Given the description of an element on the screen output the (x, y) to click on. 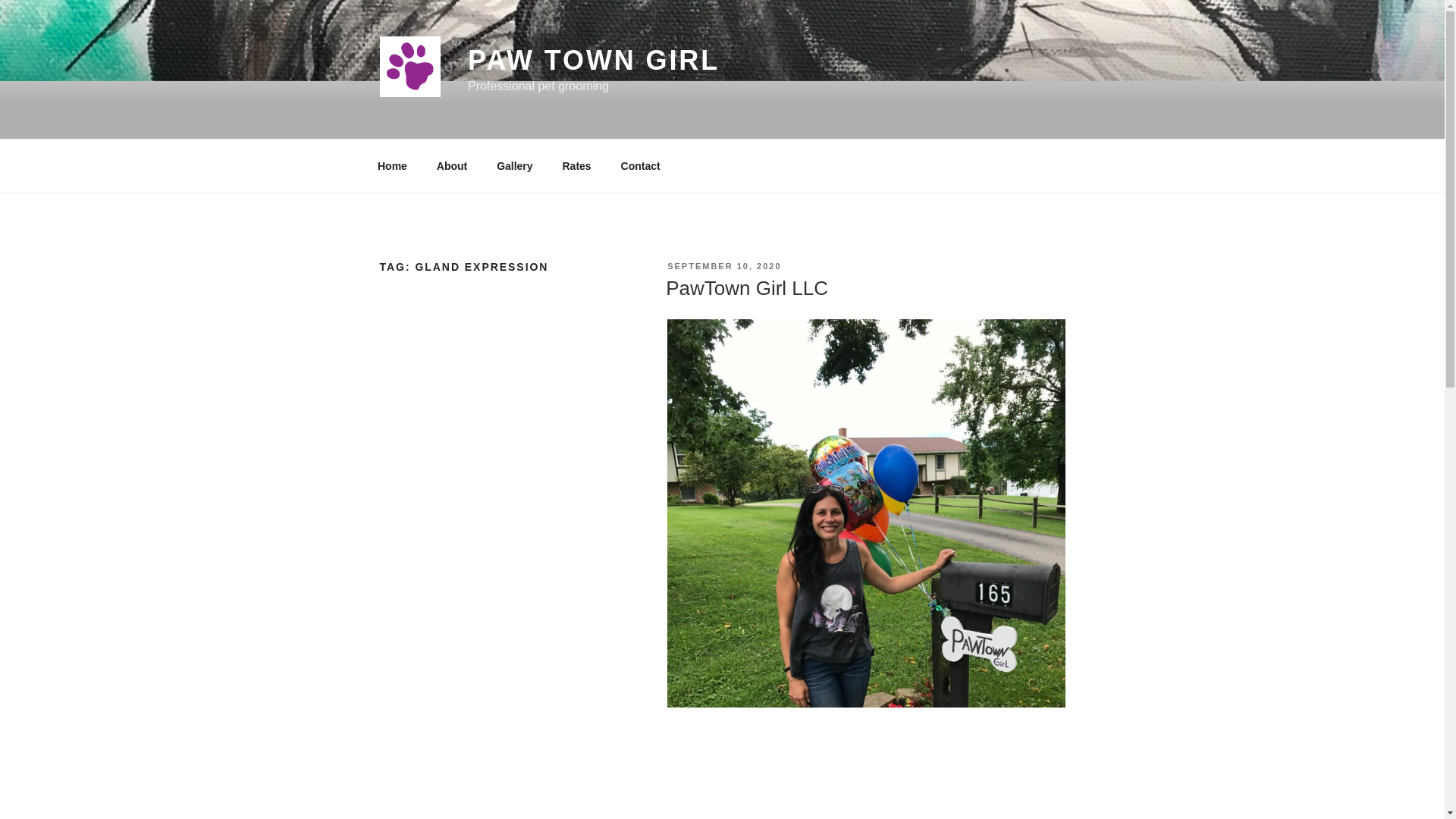
Contact (639, 165)
About (451, 165)
Home (392, 165)
Rates (576, 165)
PawTown Girl LLC (746, 287)
Gallery (514, 165)
PAW TOWN GIRL (593, 60)
SEPTEMBER 10, 2020 (723, 266)
